Given the description of an element on the screen output the (x, y) to click on. 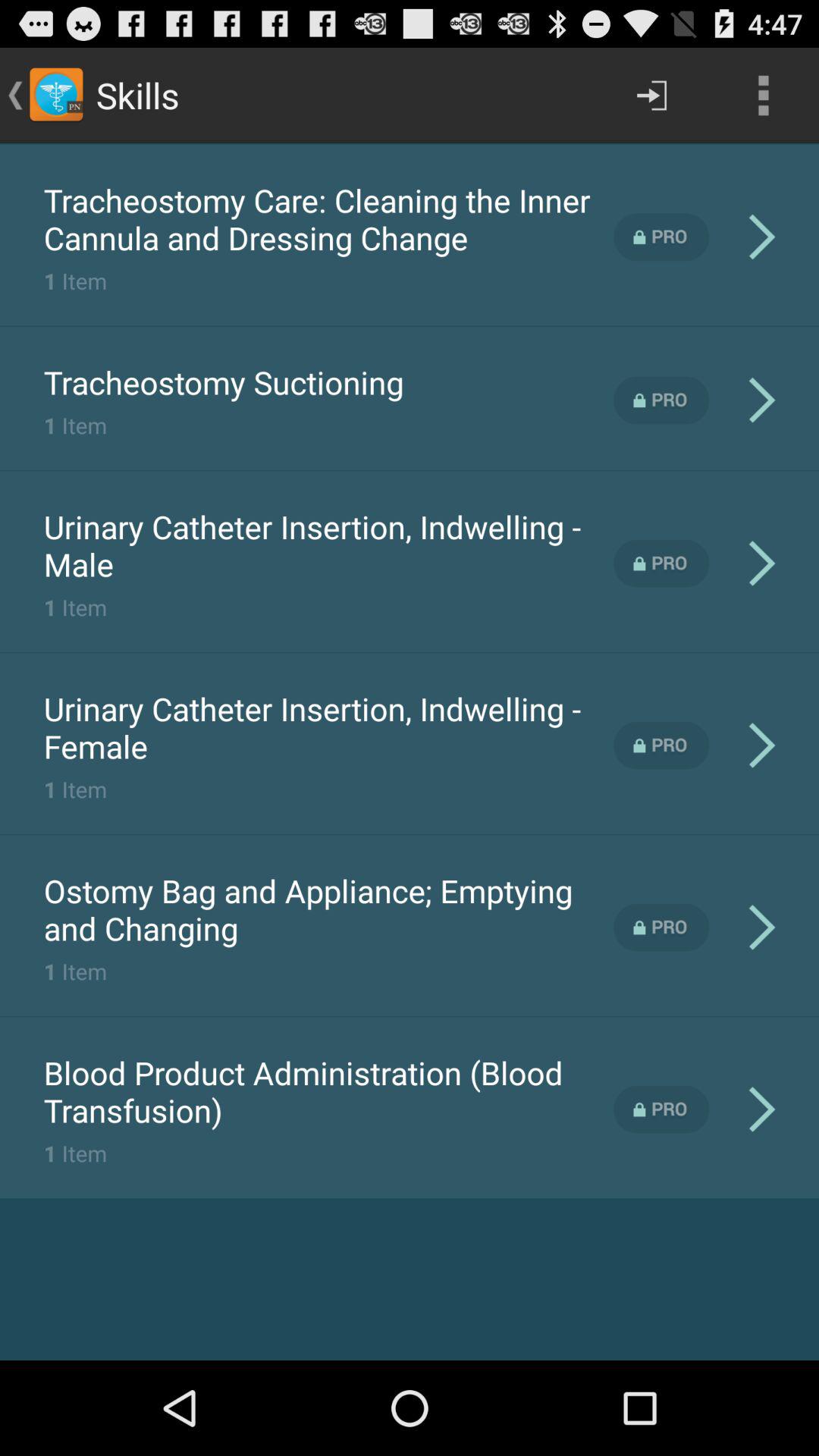
press the icon at the bottom (328, 1091)
